Given the description of an element on the screen output the (x, y) to click on. 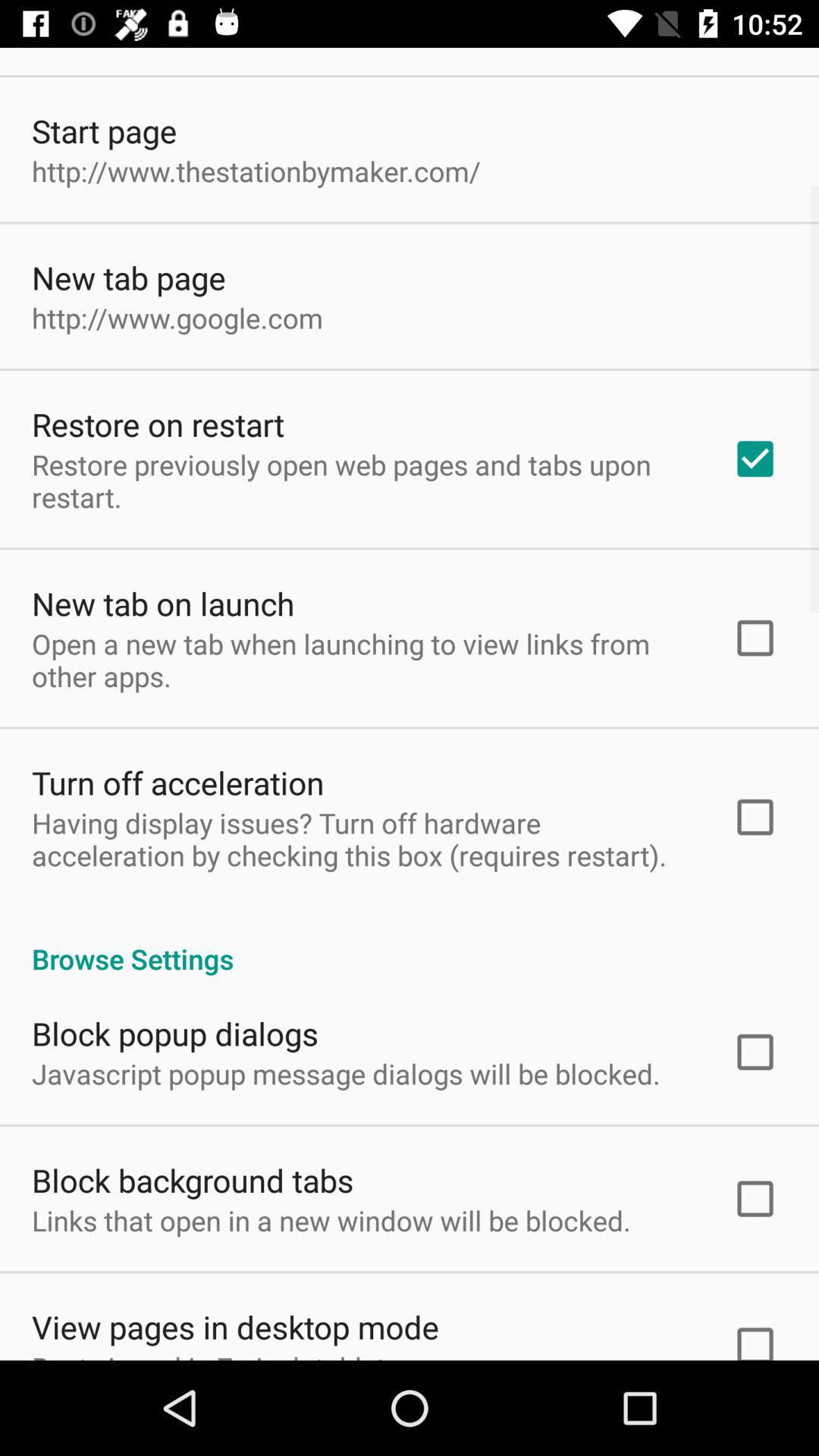
turn off the item below the view pages in (219, 1354)
